Given the description of an element on the screen output the (x, y) to click on. 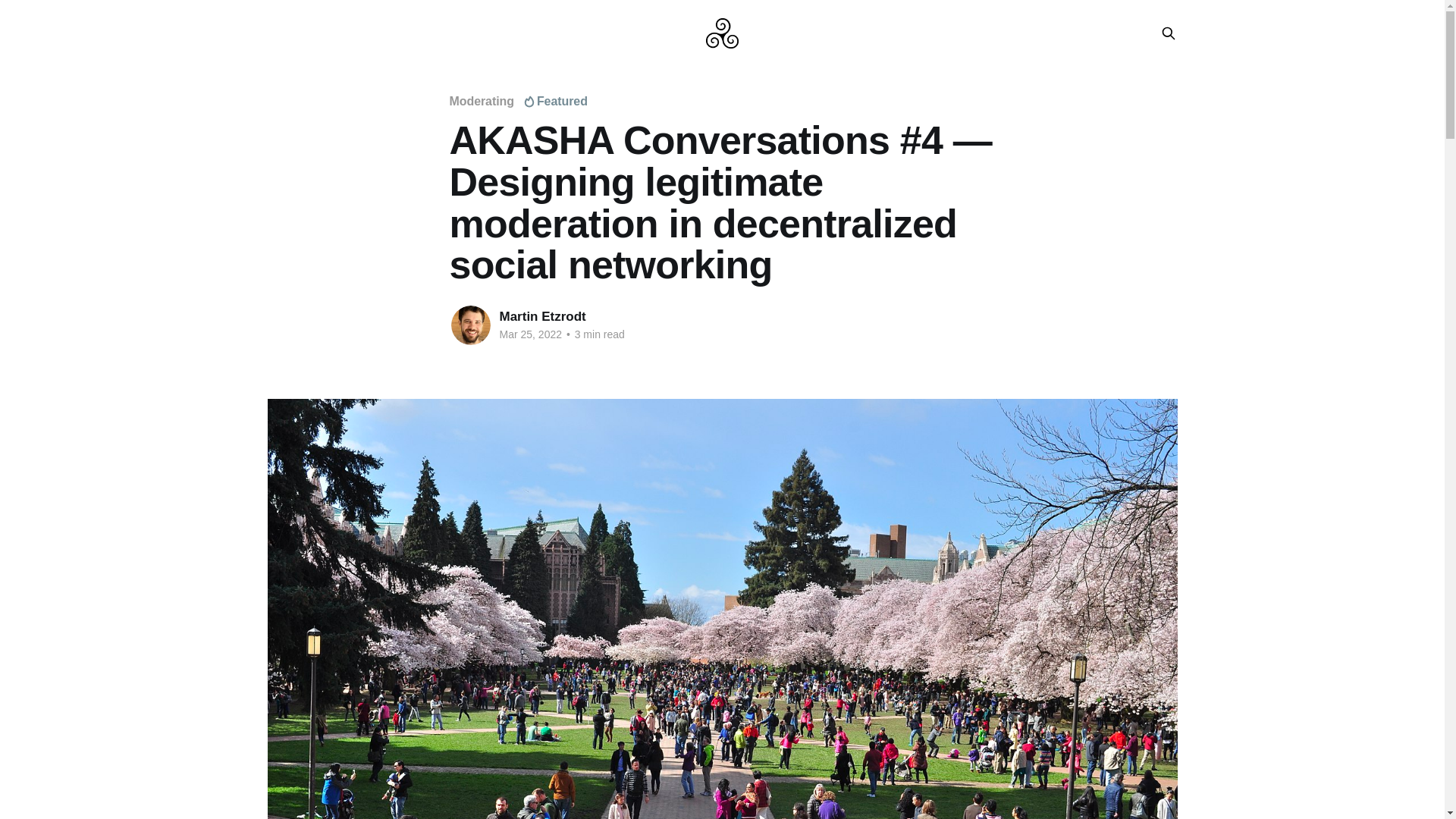
Moderating (480, 101)
Martin Etzrodt (542, 316)
